Given the description of an element on the screen output the (x, y) to click on. 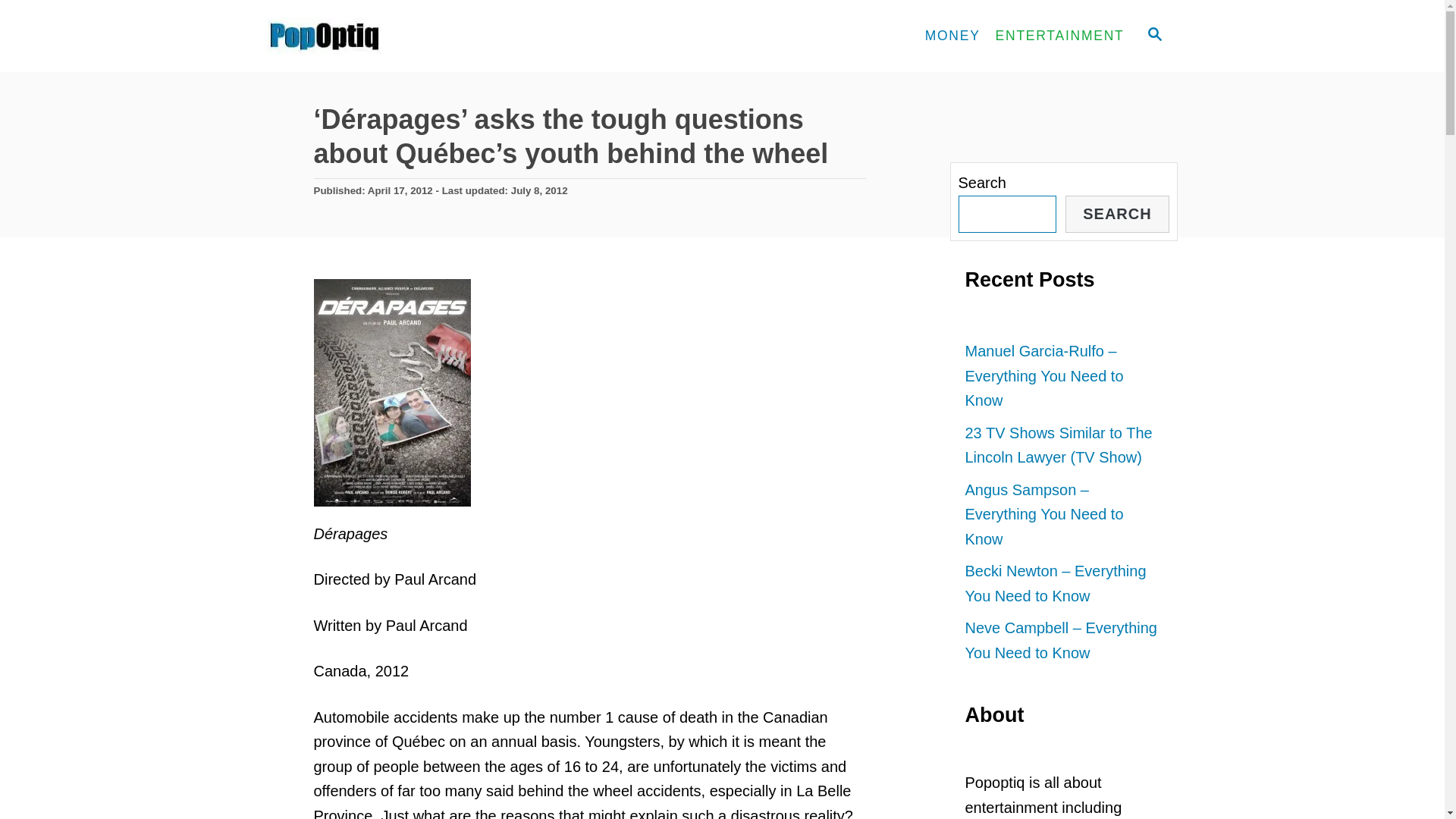
PopOptiq (403, 36)
SEARCH (1117, 214)
MONEY (952, 36)
ENTERTAINMENT (1060, 36)
SEARCH (1153, 35)
